Given the description of an element on the screen output the (x, y) to click on. 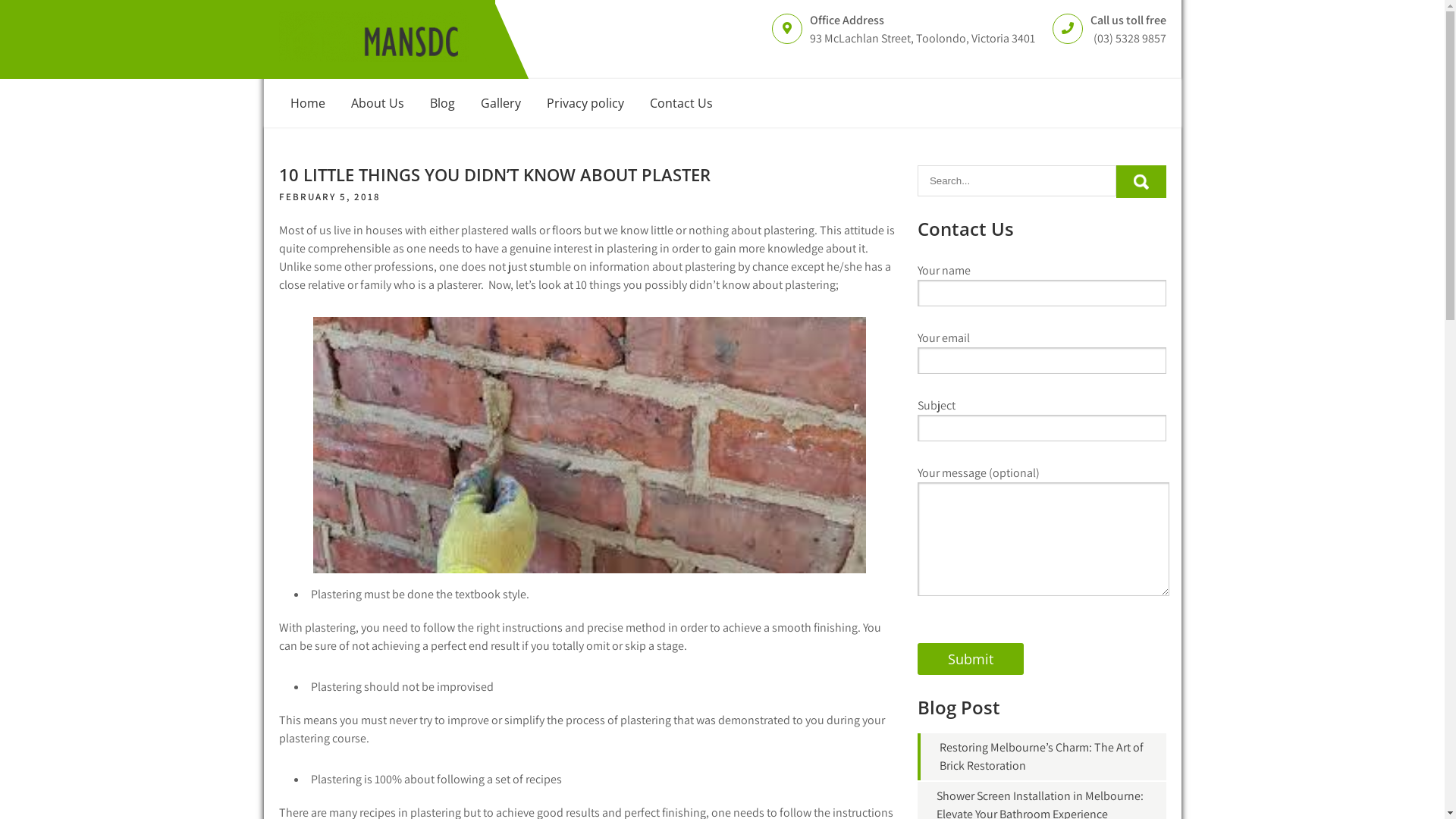
Privacy policy Element type: text (585, 102)
Blog Element type: text (442, 102)
Gallery Element type: text (499, 102)
Contact Us Element type: text (681, 102)
Mansdc Element type: text (318, 78)
Submit Element type: text (970, 658)
Search Element type: text (1141, 181)
Home Element type: text (307, 102)
About Us Element type: text (377, 102)
